Given the description of an element on the screen output the (x, y) to click on. 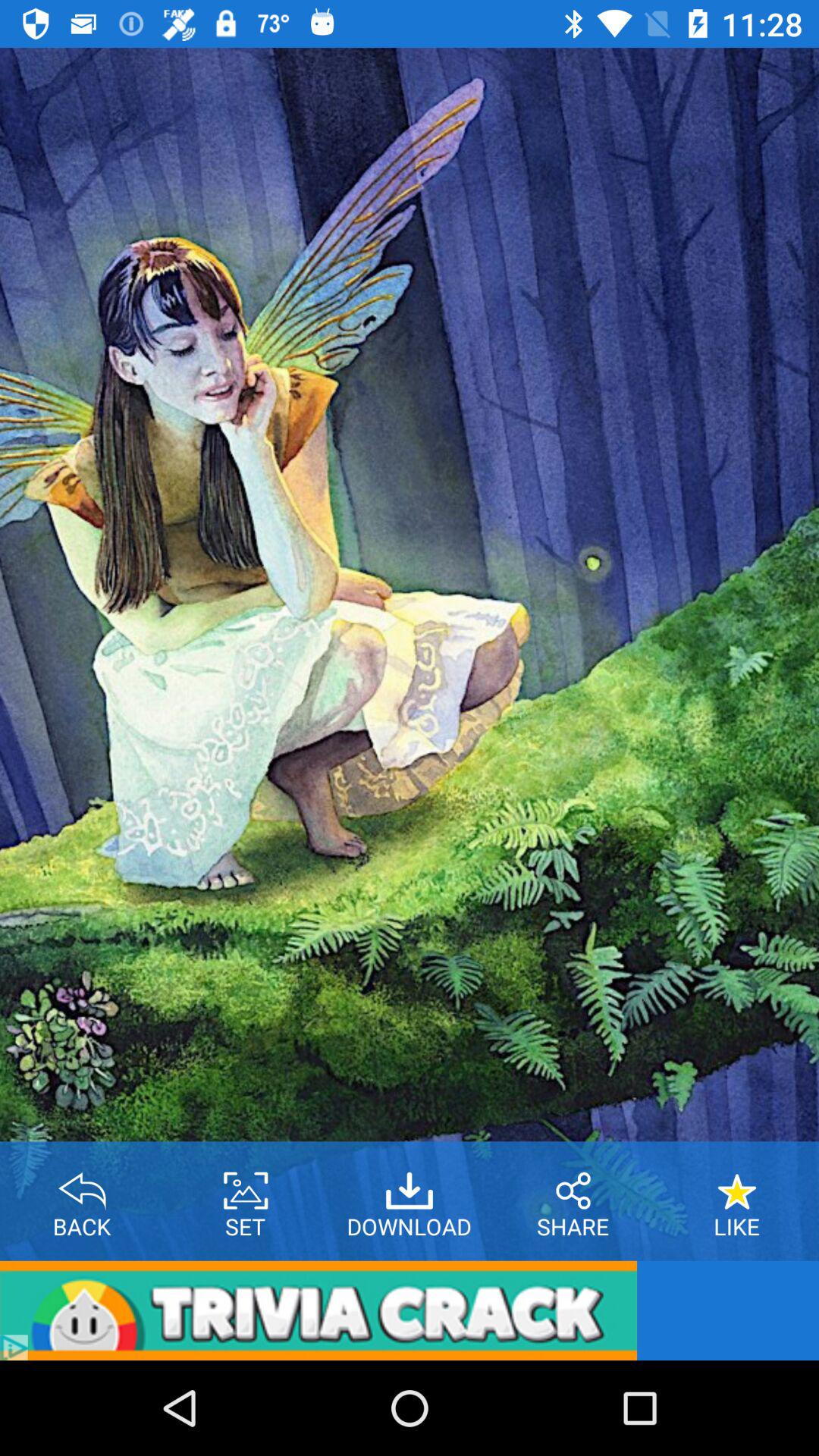
share photo (573, 1185)
